Given the description of an element on the screen output the (x, y) to click on. 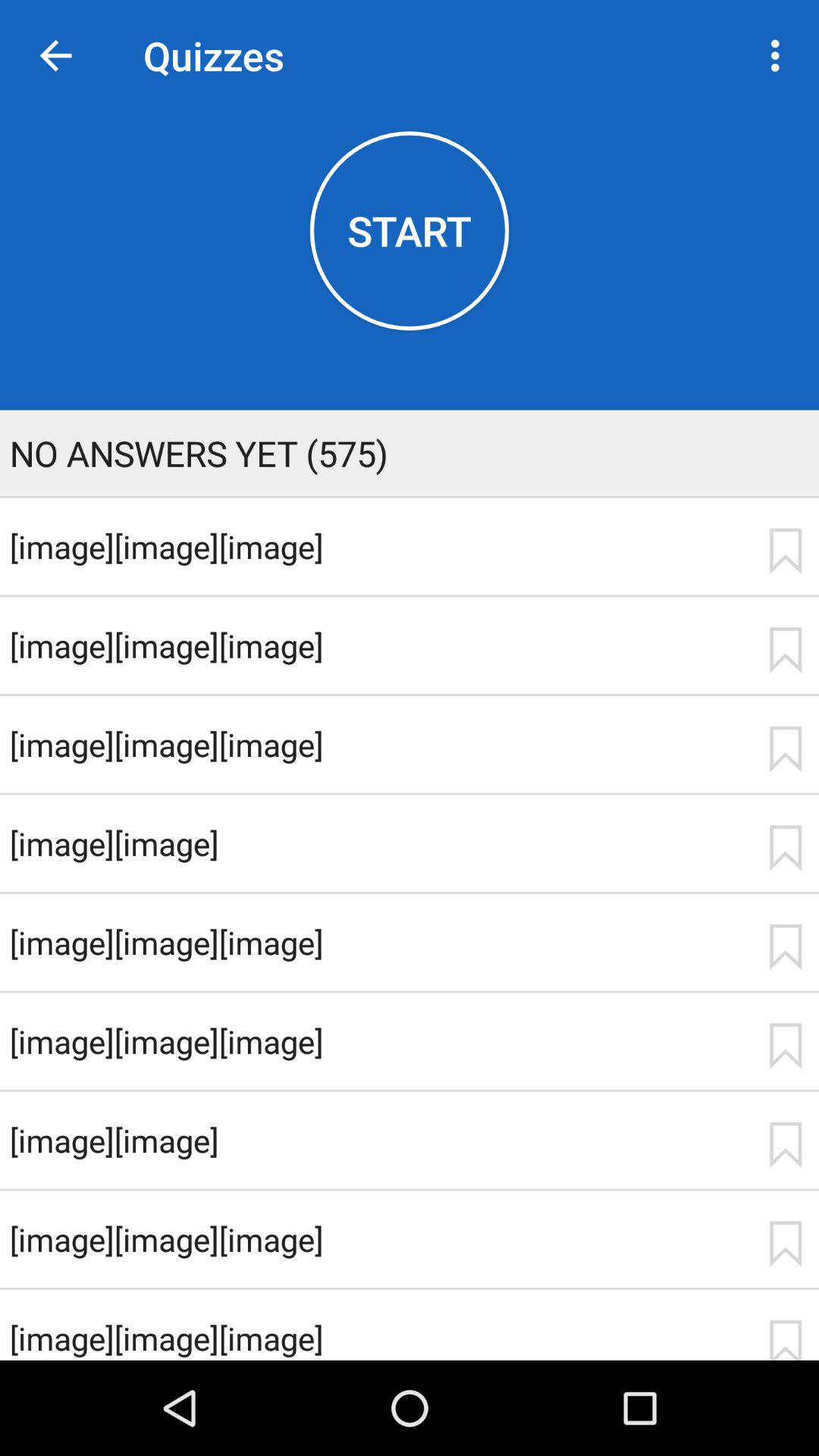
flag image (784, 749)
